Given the description of an element on the screen output the (x, y) to click on. 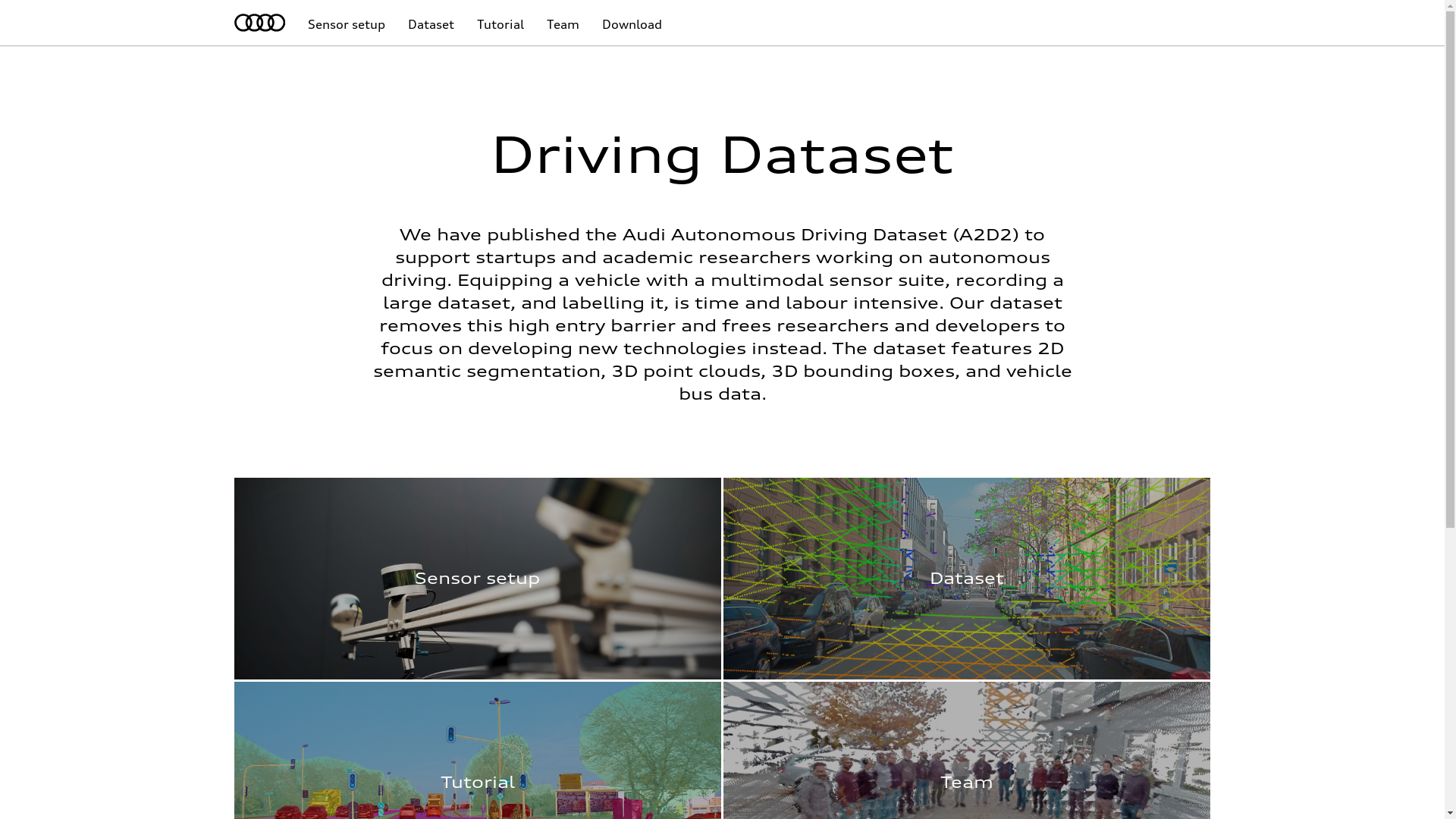
Sensor setup Element type: text (346, 28)
Sensor setup Element type: text (477, 578)
Download Element type: text (632, 28)
Dataset Element type: text (966, 578)
Tutorial Element type: text (500, 28)
Dataset Element type: text (430, 28)
Team Element type: text (562, 28)
